Given the description of an element on the screen output the (x, y) to click on. 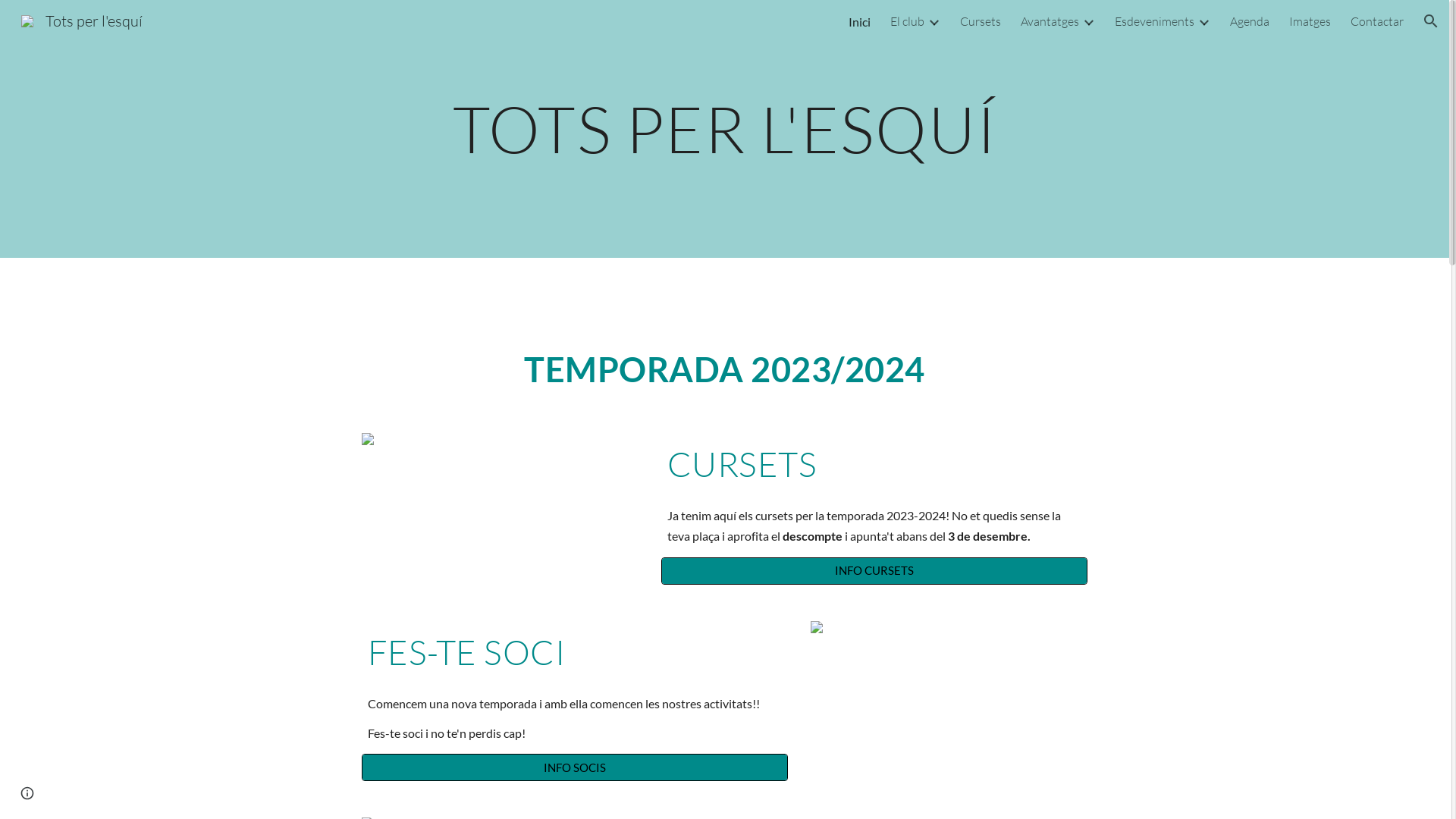
INFO CURSETS Element type: text (874, 569)
Imatges Element type: text (1309, 20)
Cursets Element type: text (980, 20)
Esdeveniments Element type: text (1154, 20)
Expand/Collapse Element type: hover (933, 20)
Expand/Collapse Element type: hover (1203, 20)
Inici Element type: text (859, 20)
Agenda Element type: text (1249, 20)
INFO SOCIS Element type: text (574, 766)
El club Element type: text (907, 20)
Avantatges Element type: text (1049, 20)
Contactar Element type: text (1376, 20)
Expand/Collapse Element type: hover (1088, 20)
